Given the description of an element on the screen output the (x, y) to click on. 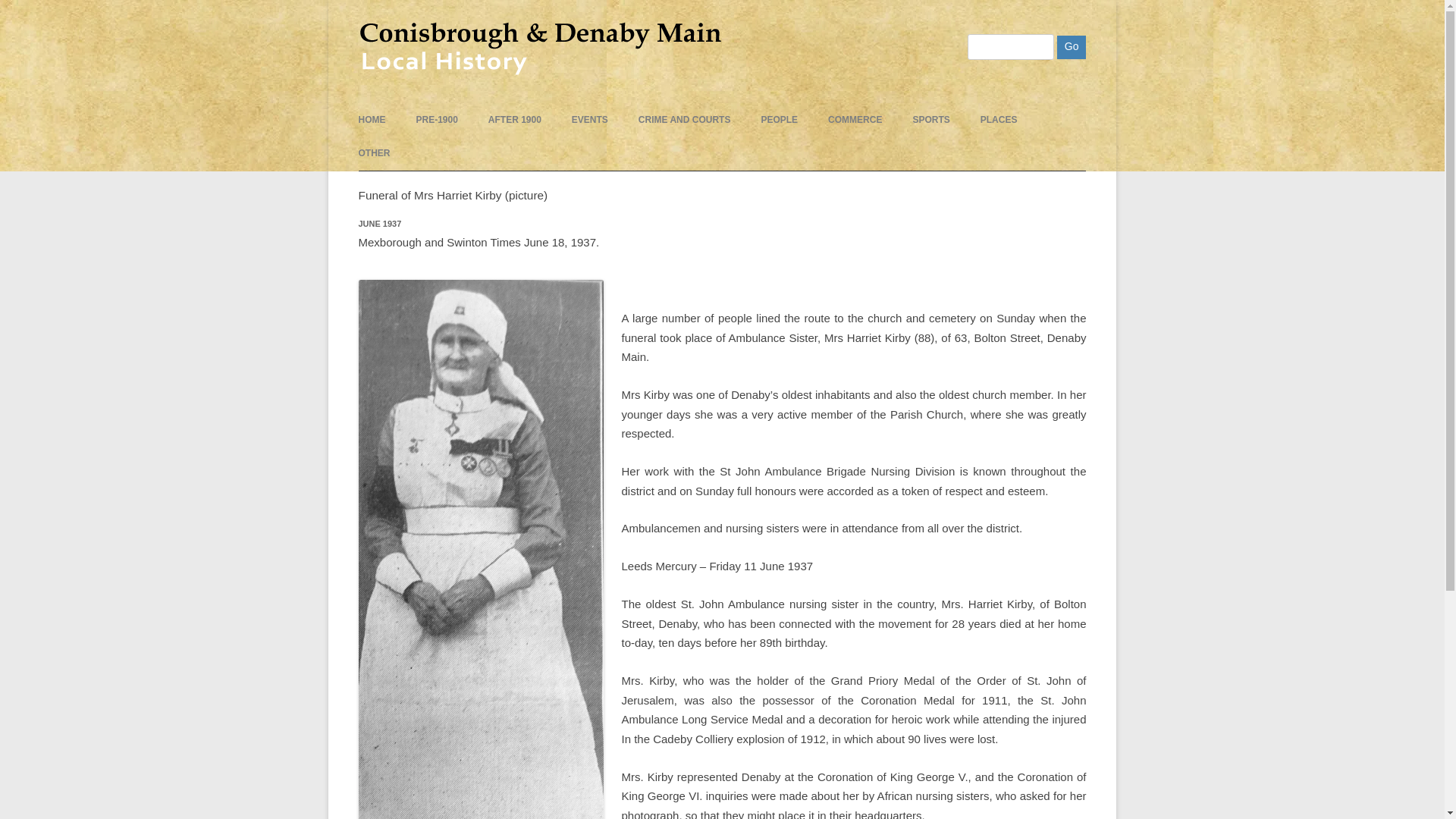
COMMERCE (855, 119)
CRIME AND COURTS (684, 119)
OTHER (374, 152)
PLACES (998, 119)
SPORTS (930, 119)
PEOPLE (778, 119)
EVENTS (590, 119)
AFTER 1900 (514, 119)
